Given the description of an element on the screen output the (x, y) to click on. 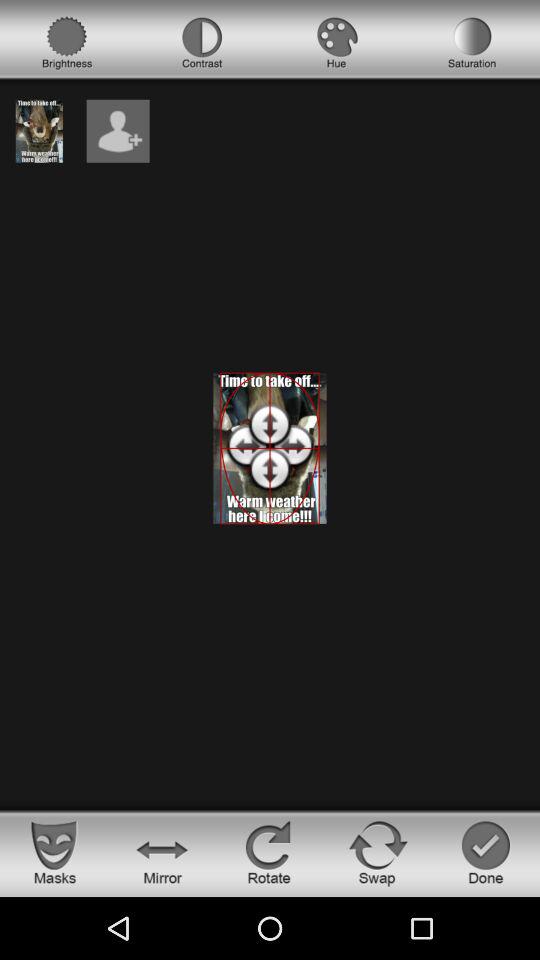
turn on the item at the top right corner (472, 43)
